Given the description of an element on the screen output the (x, y) to click on. 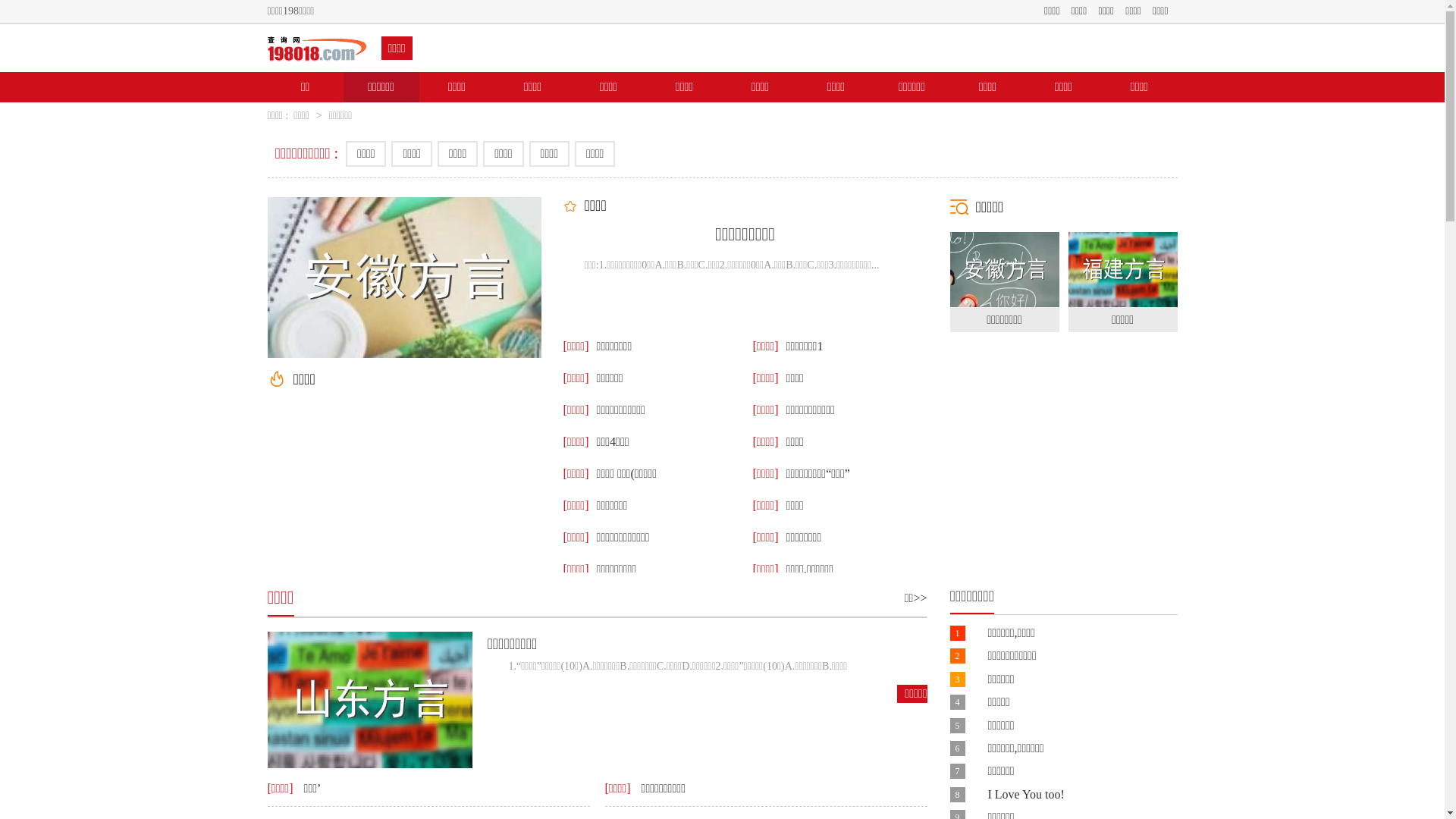
I Love You too! Element type: text (1025, 793)
